Given the description of an element on the screen output the (x, y) to click on. 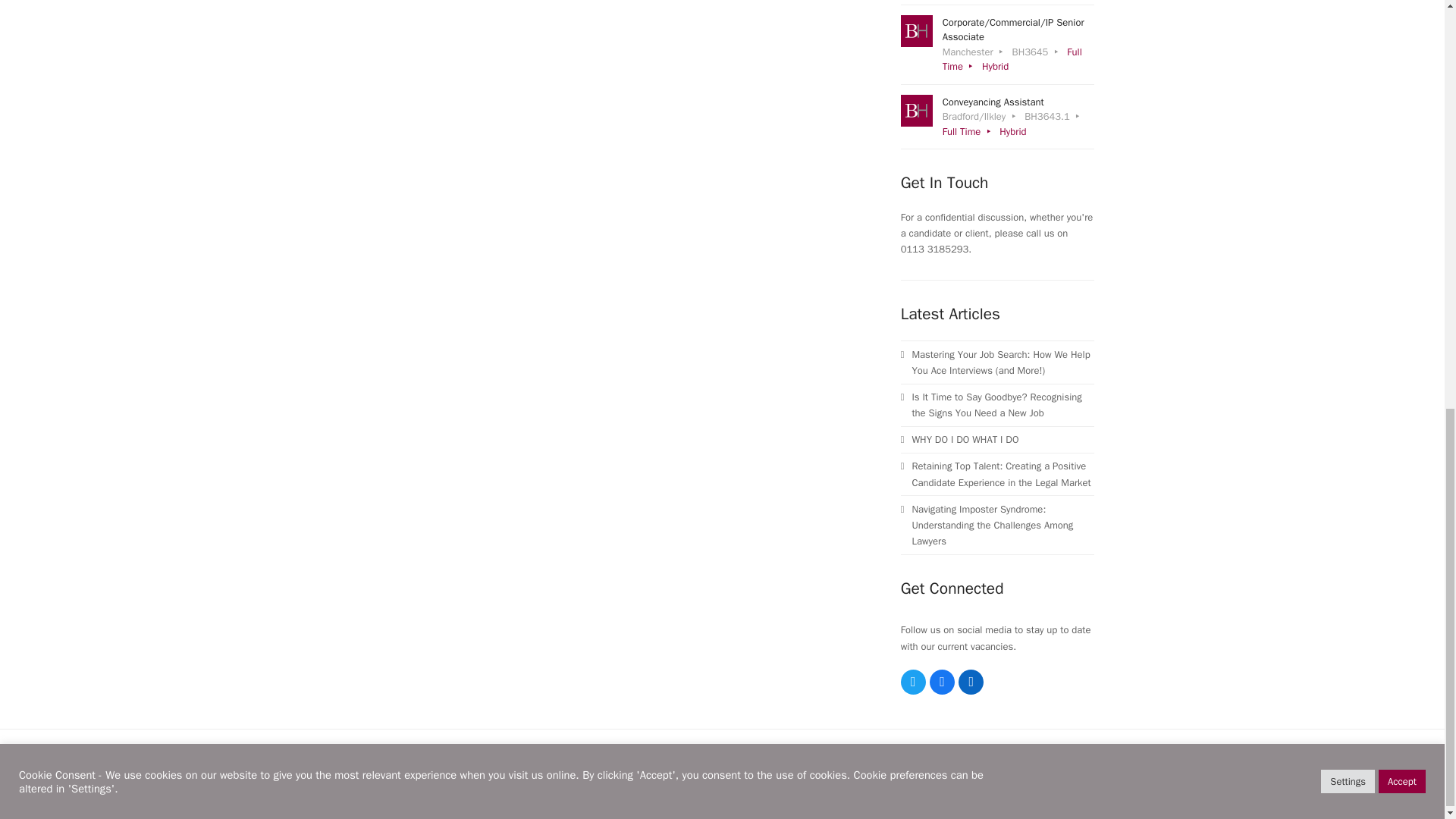
LinkedIn (971, 681)
WHY DO I DO WHAT I DO (997, 439)
Facebook (942, 681)
Twitter (913, 681)
